Given the description of an element on the screen output the (x, y) to click on. 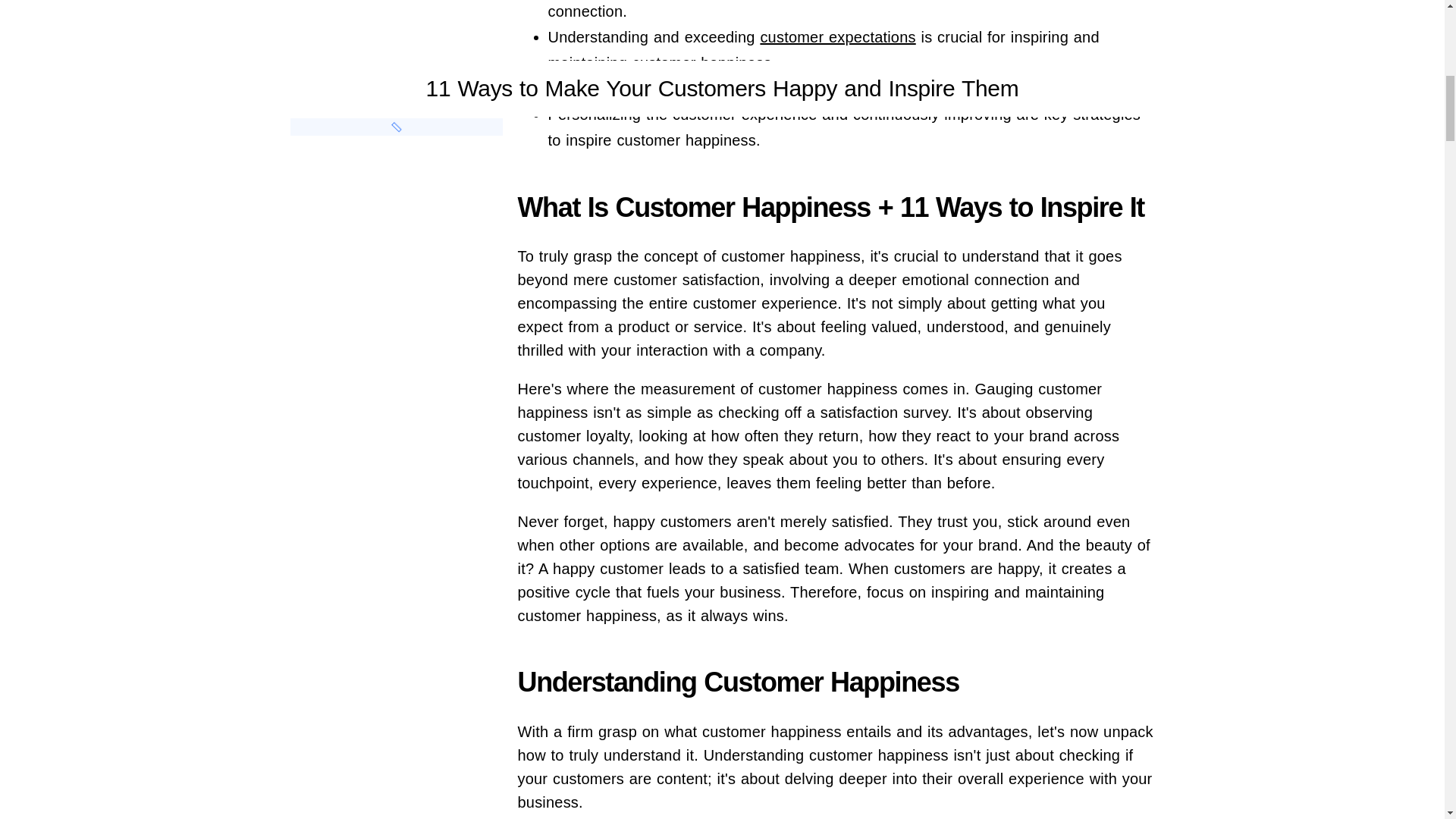
customer expectations (837, 36)
customer expectations (837, 36)
